Given the description of an element on the screen output the (x, y) to click on. 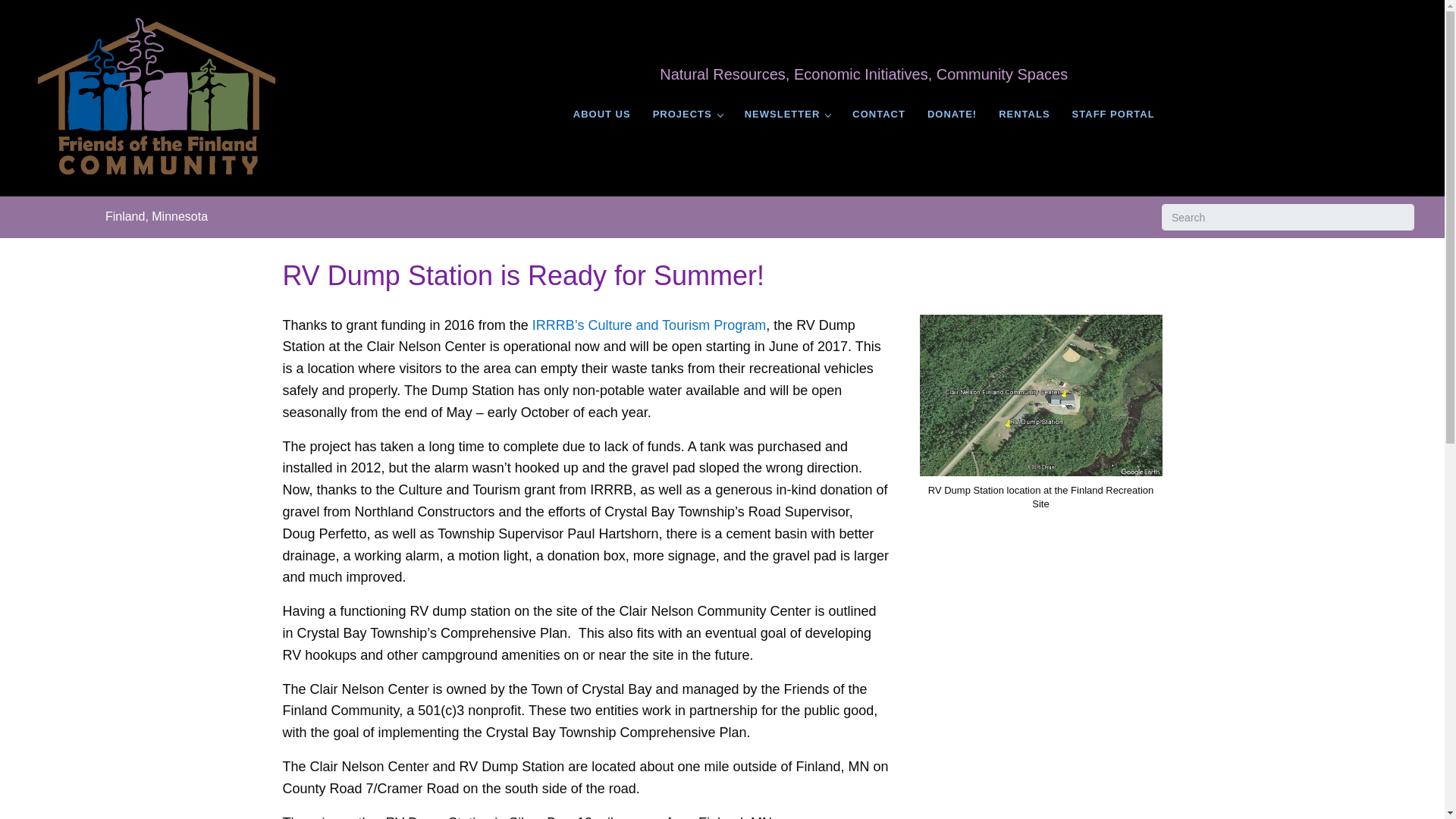
NEWSLETTER (787, 114)
rv-dump-map-600 (1039, 394)
STAFF PORTAL (1113, 114)
PROJECTS (687, 114)
RENTALS (1023, 114)
Type and press Enter to search. (1287, 216)
FFC-logo-600 (156, 95)
CONTACT (878, 114)
DONATE! (952, 114)
ABOUT US (602, 114)
